Given the description of an element on the screen output the (x, y) to click on. 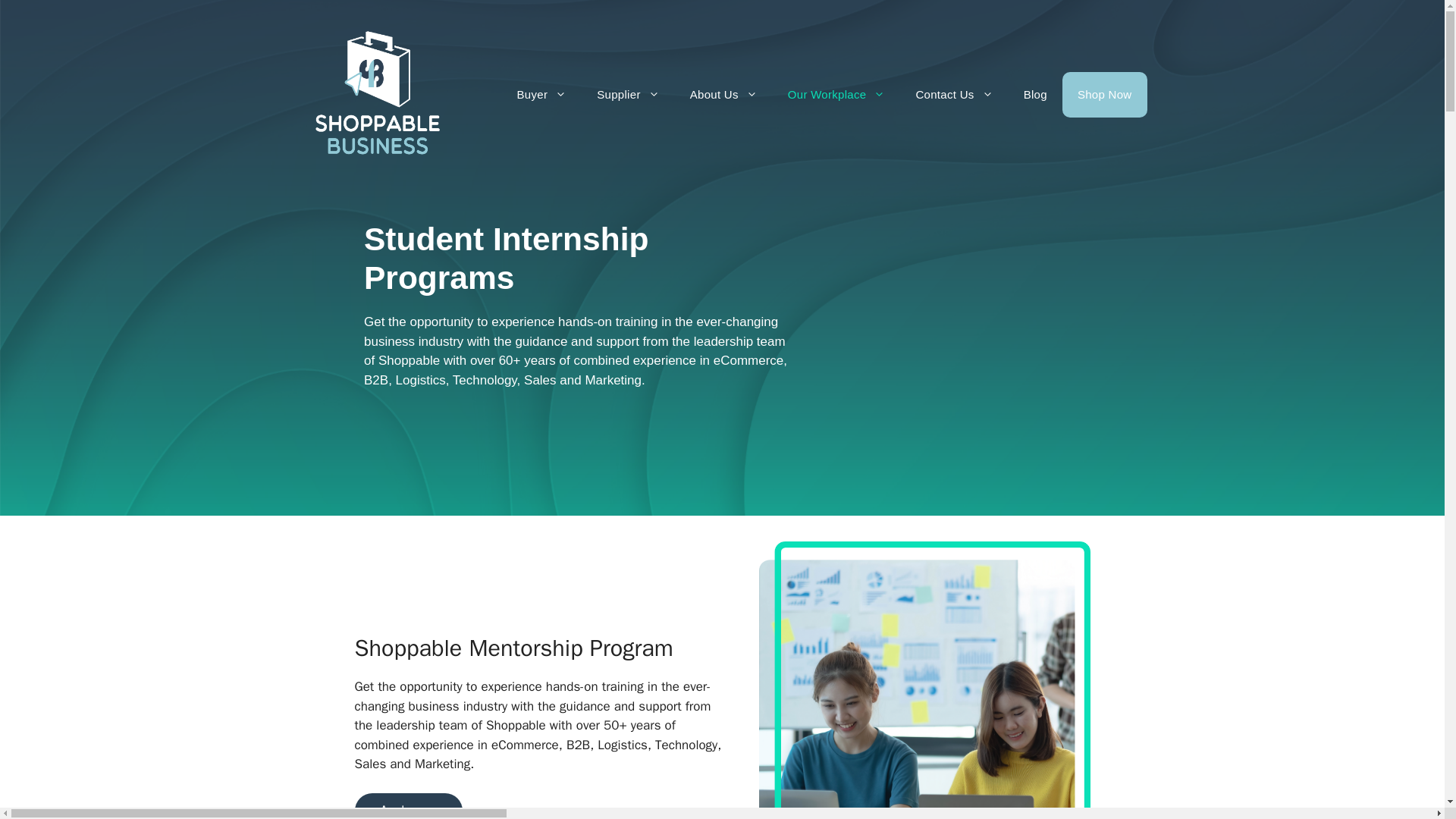
Buyer (542, 94)
Our Workplace (837, 94)
Supplier (627, 94)
Contact Us (953, 94)
About Us (724, 94)
Blog (1035, 94)
Shop Now (1104, 94)
